Given the description of an element on the screen output the (x, y) to click on. 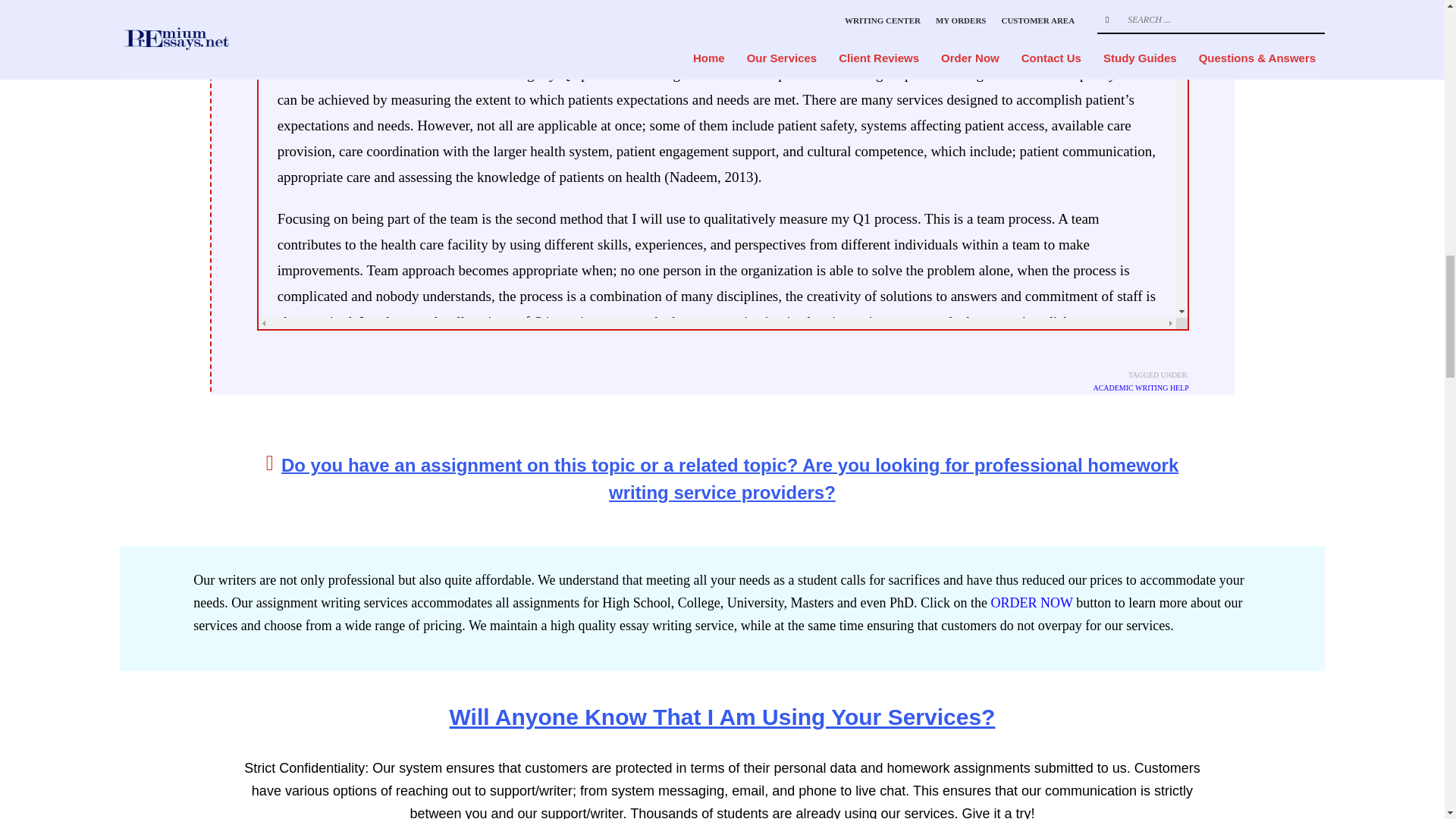
ACADEMIC WRITING HELP (1140, 388)
ORDER NOW (1030, 602)
